Given the description of an element on the screen output the (x, y) to click on. 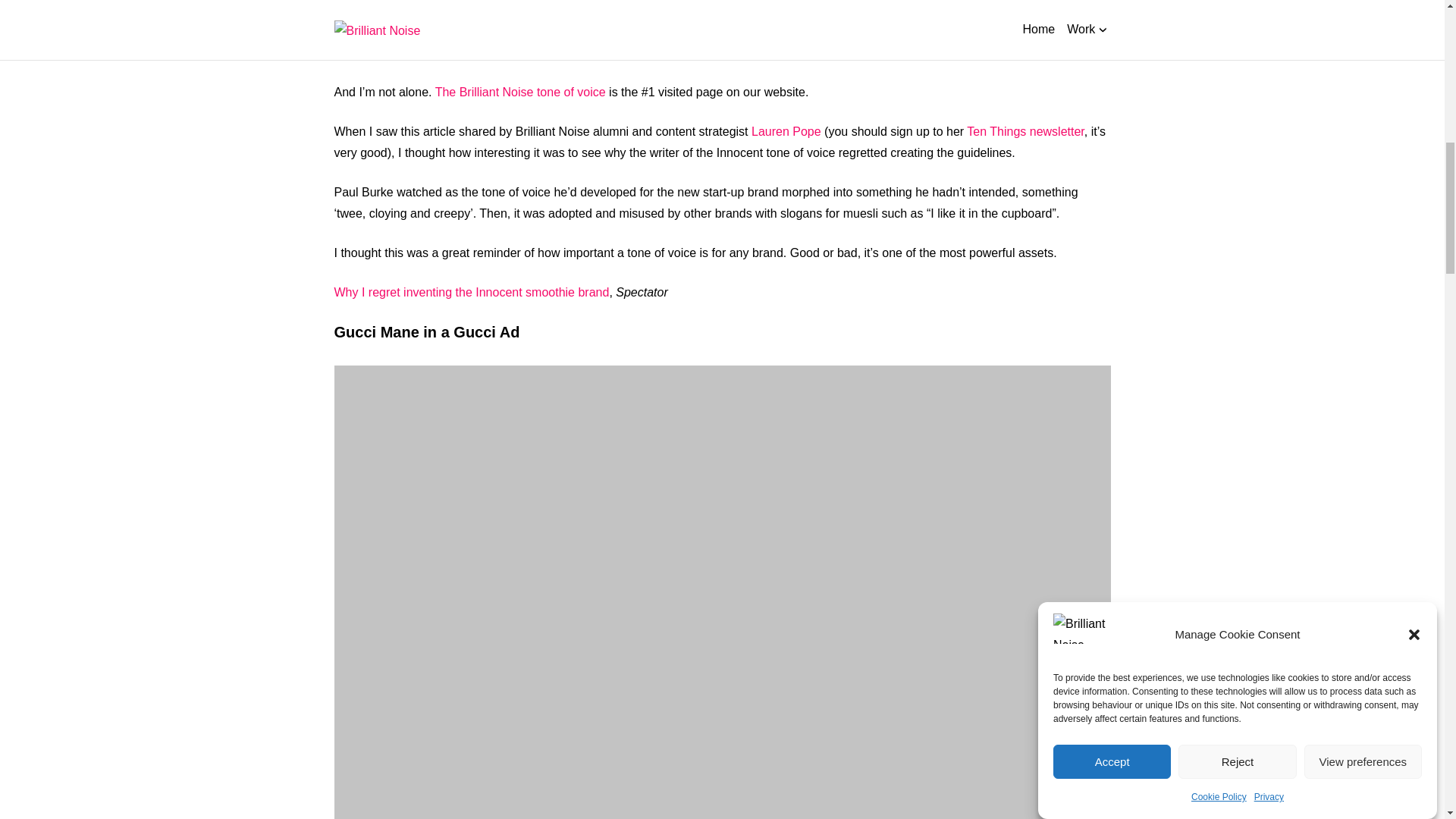
Lauren Pope (786, 131)
The Brilliant Noise tone of voice (520, 91)
Monzo (432, 31)
Accept (1111, 230)
Why I regret inventing the Innocent smoothie brand (470, 291)
Ten Things newsletter (1024, 131)
View preferences (1363, 184)
Reject (1236, 199)
Mailchimp (360, 31)
Cookie Policy (1218, 138)
Privacy (1268, 117)
